Given the description of an element on the screen output the (x, y) to click on. 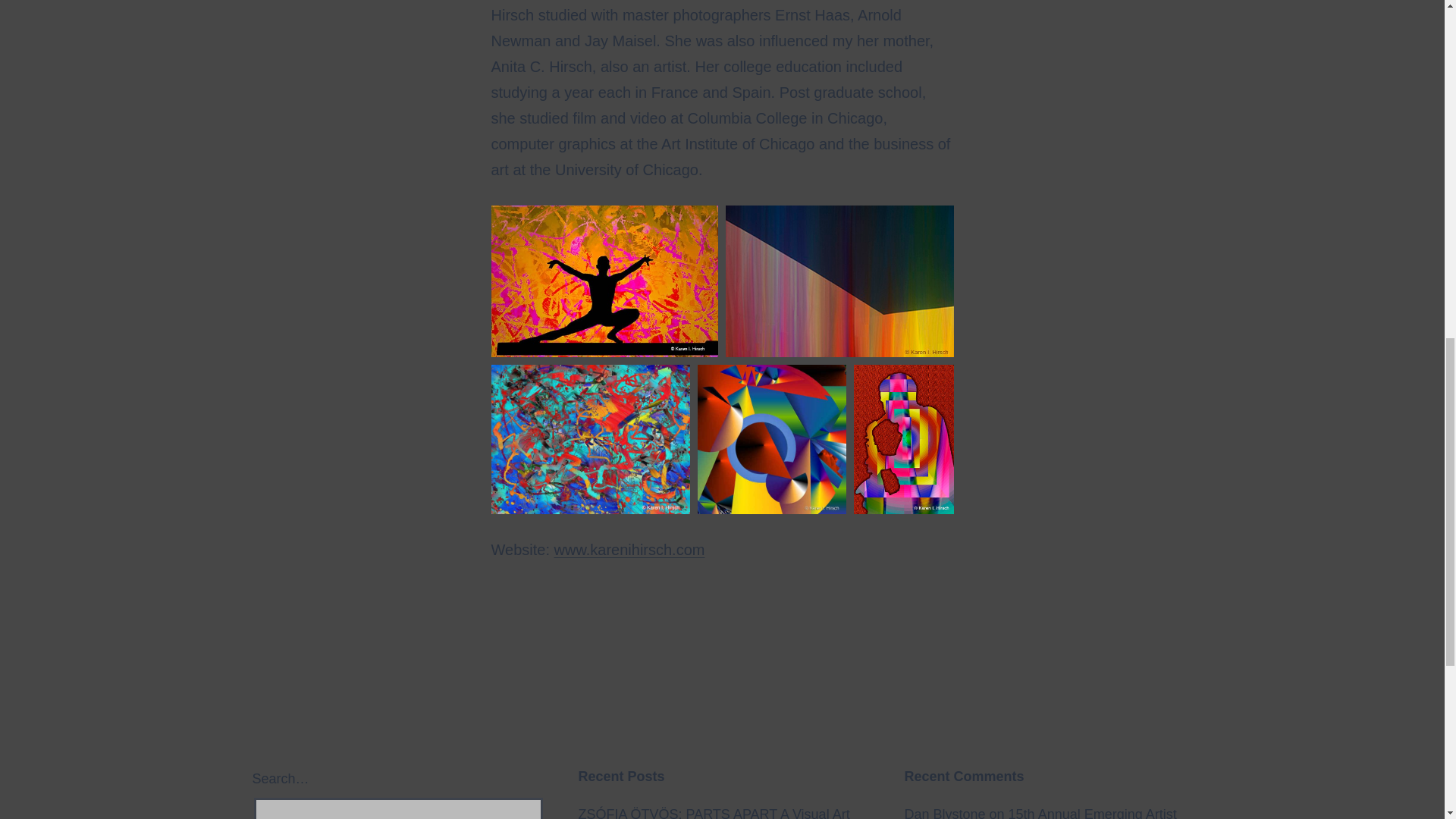
www.karenihirsch.com (628, 549)
rainbowcircles6-copy (771, 439)
abstract (839, 281)
Dan Blystone (944, 812)
frenetic (591, 439)
15th Annual Emerging Artist Exhibition at Morpho Gallery (1040, 812)
